Given the description of an element on the screen output the (x, y) to click on. 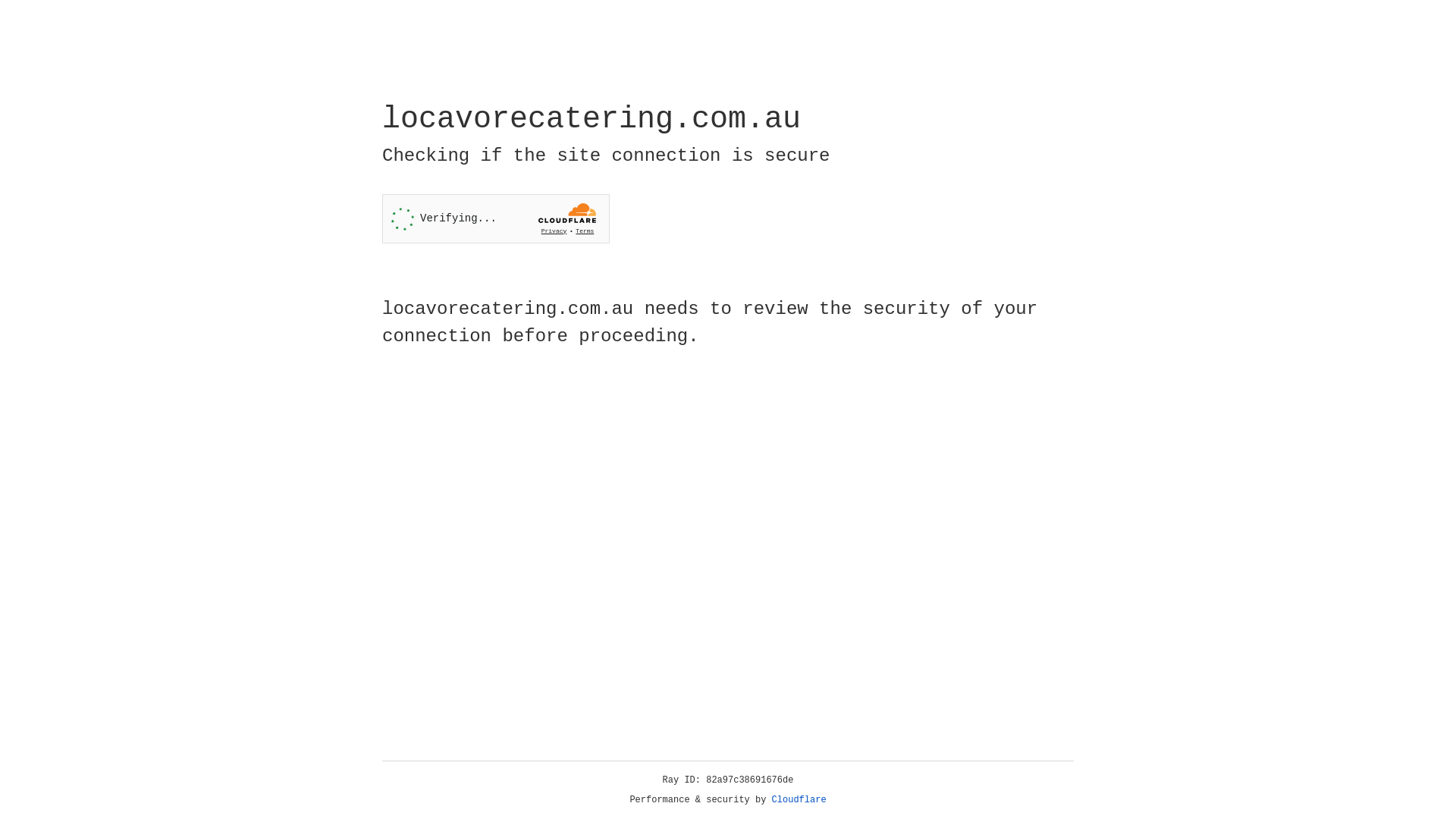
Cloudflare Element type: text (798, 799)
Widget containing a Cloudflare security challenge Element type: hover (495, 218)
